Given the description of an element on the screen output the (x, y) to click on. 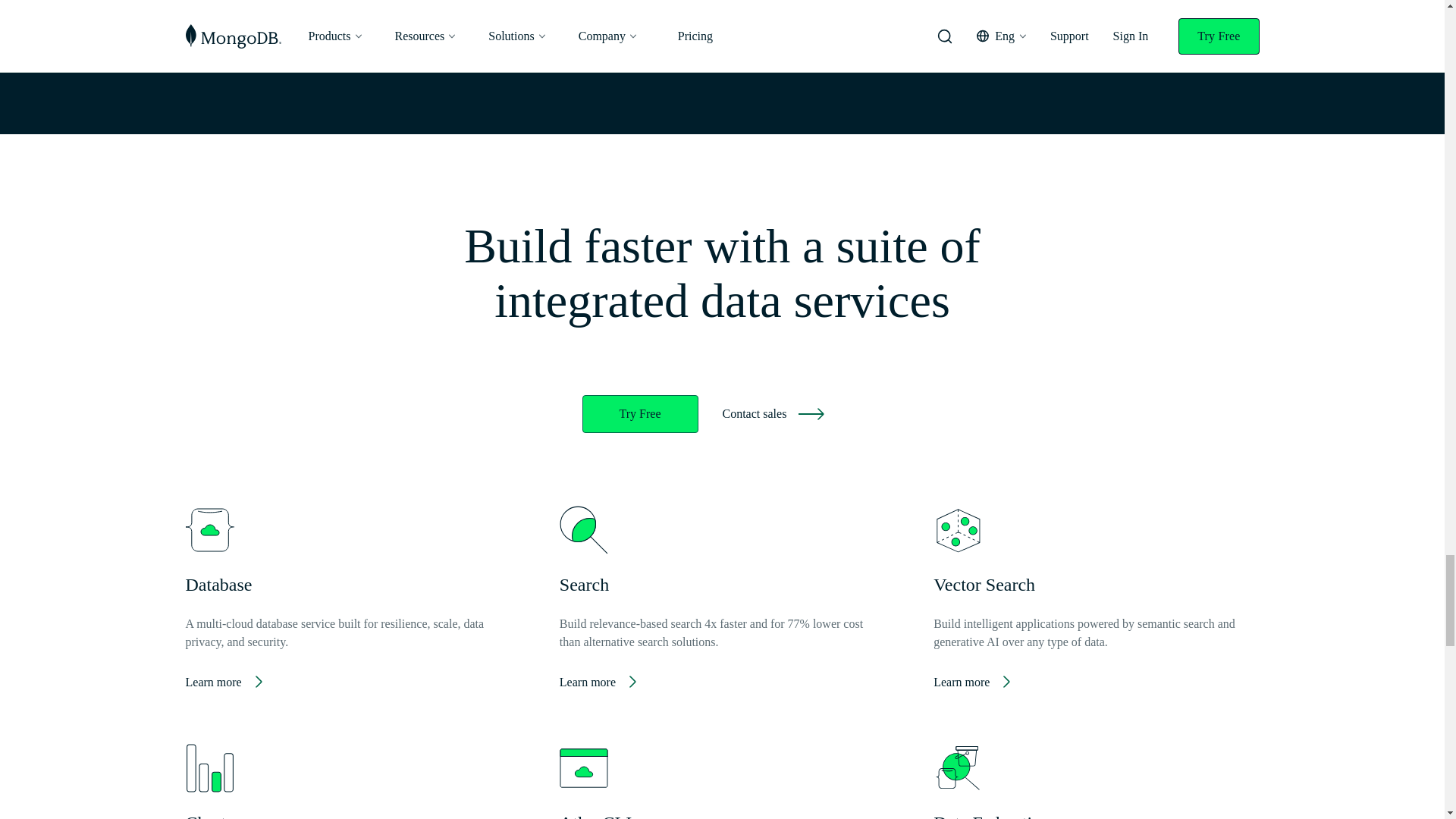
Copy Code (1224, 14)
copy (1224, 13)
